Given the description of an element on the screen output the (x, y) to click on. 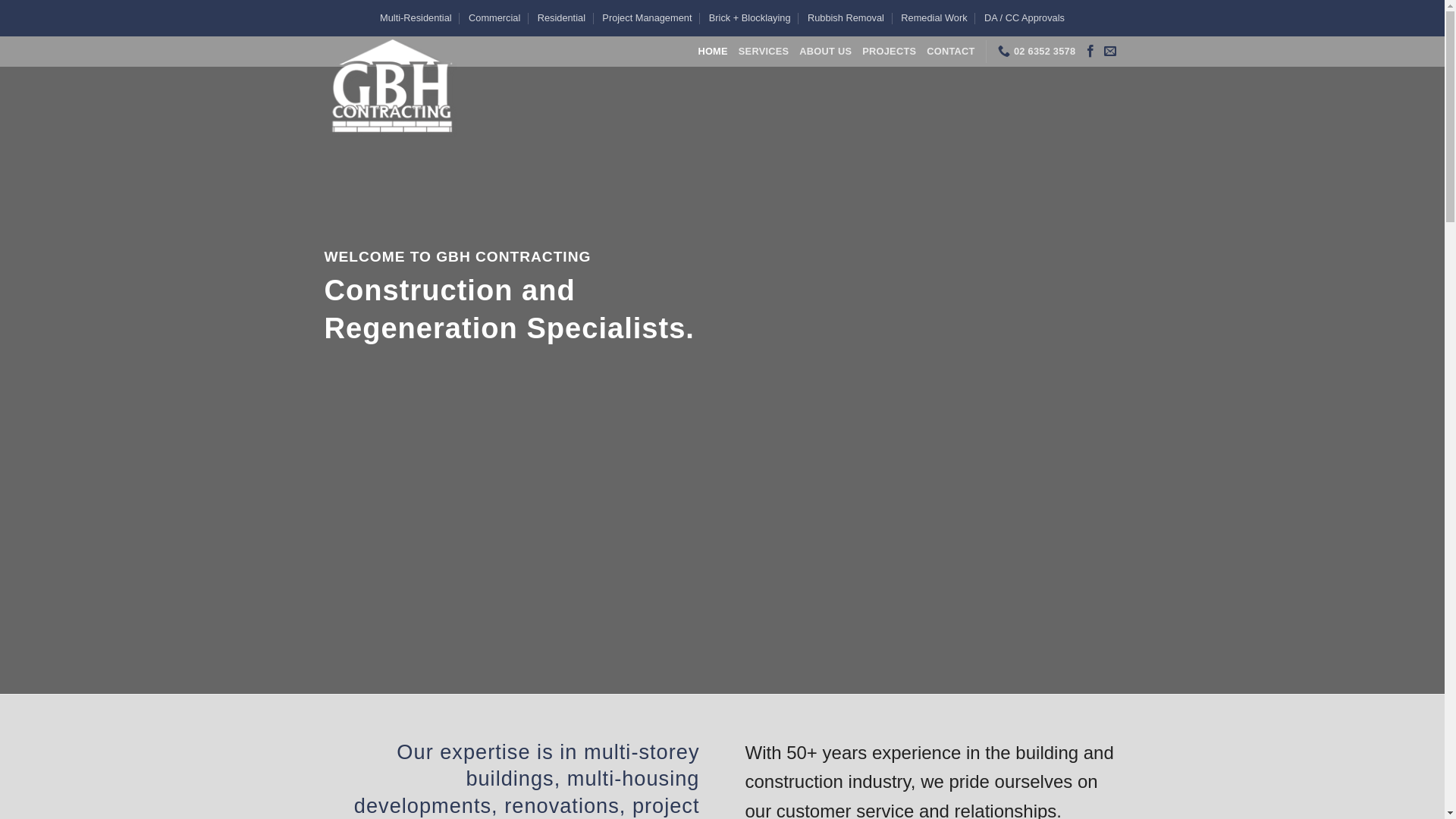
Rubbish Removal Element type: text (845, 17)
Residential Element type: text (561, 17)
ABOUT US Element type: text (825, 51)
Commercial Element type: text (494, 17)
Brick + Blocklaying Element type: text (749, 17)
SERVICES Element type: text (763, 51)
02 6352 3578 Element type: text (1036, 50)
DA / CC Approvals Element type: text (1024, 17)
Multi-Residential Element type: text (415, 17)
Project Management Element type: text (646, 17)
Send us an email Element type: hover (1110, 51)
PROJECTS Element type: text (889, 51)
Follow on Facebook Element type: hover (1090, 51)
CONTACT Element type: text (950, 51)
Remedial Work Element type: text (933, 17)
HOME Element type: text (712, 51)
